Given the description of an element on the screen output the (x, y) to click on. 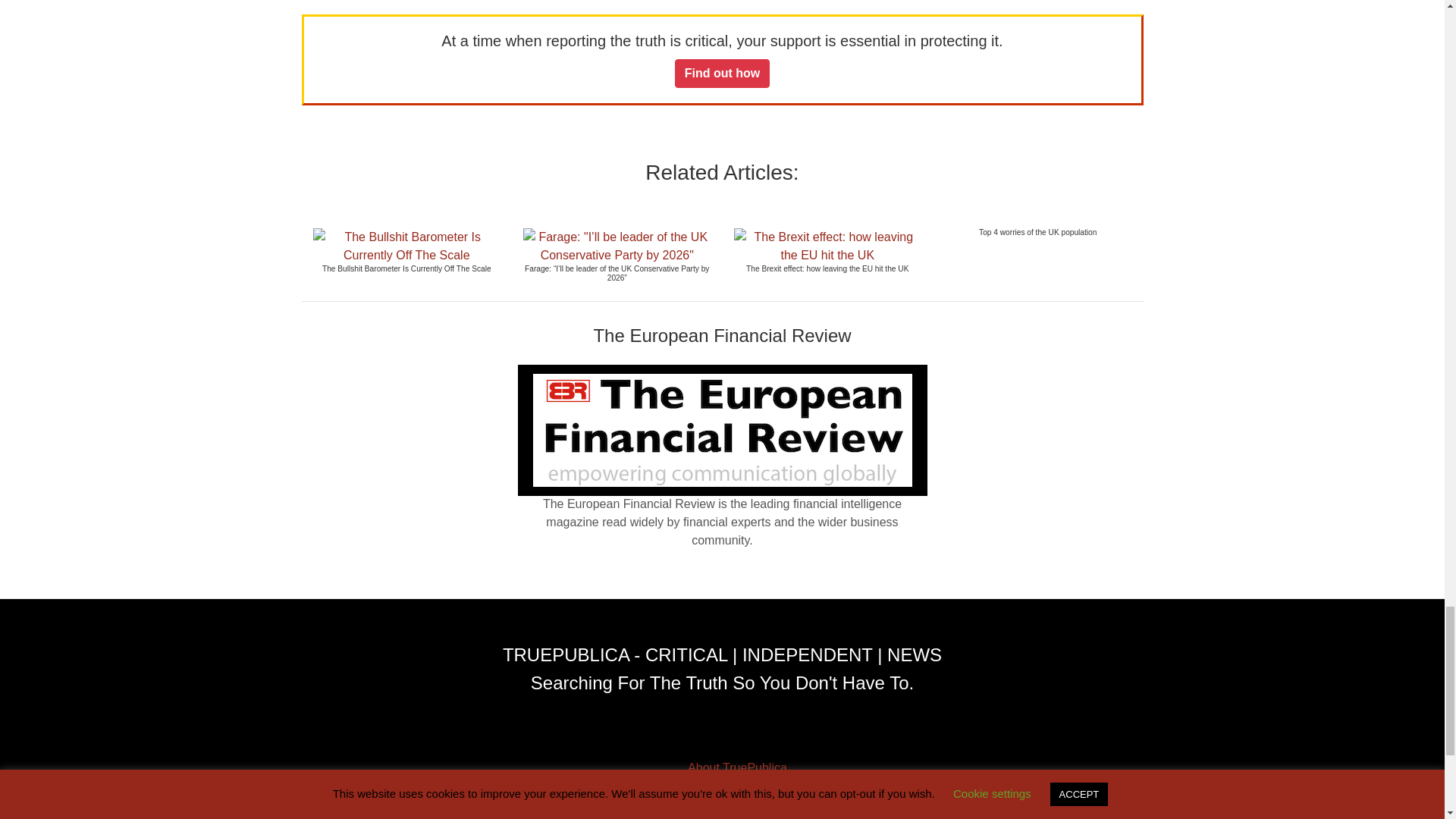
Got to European financial review website (721, 429)
